Given the description of an element on the screen output the (x, y) to click on. 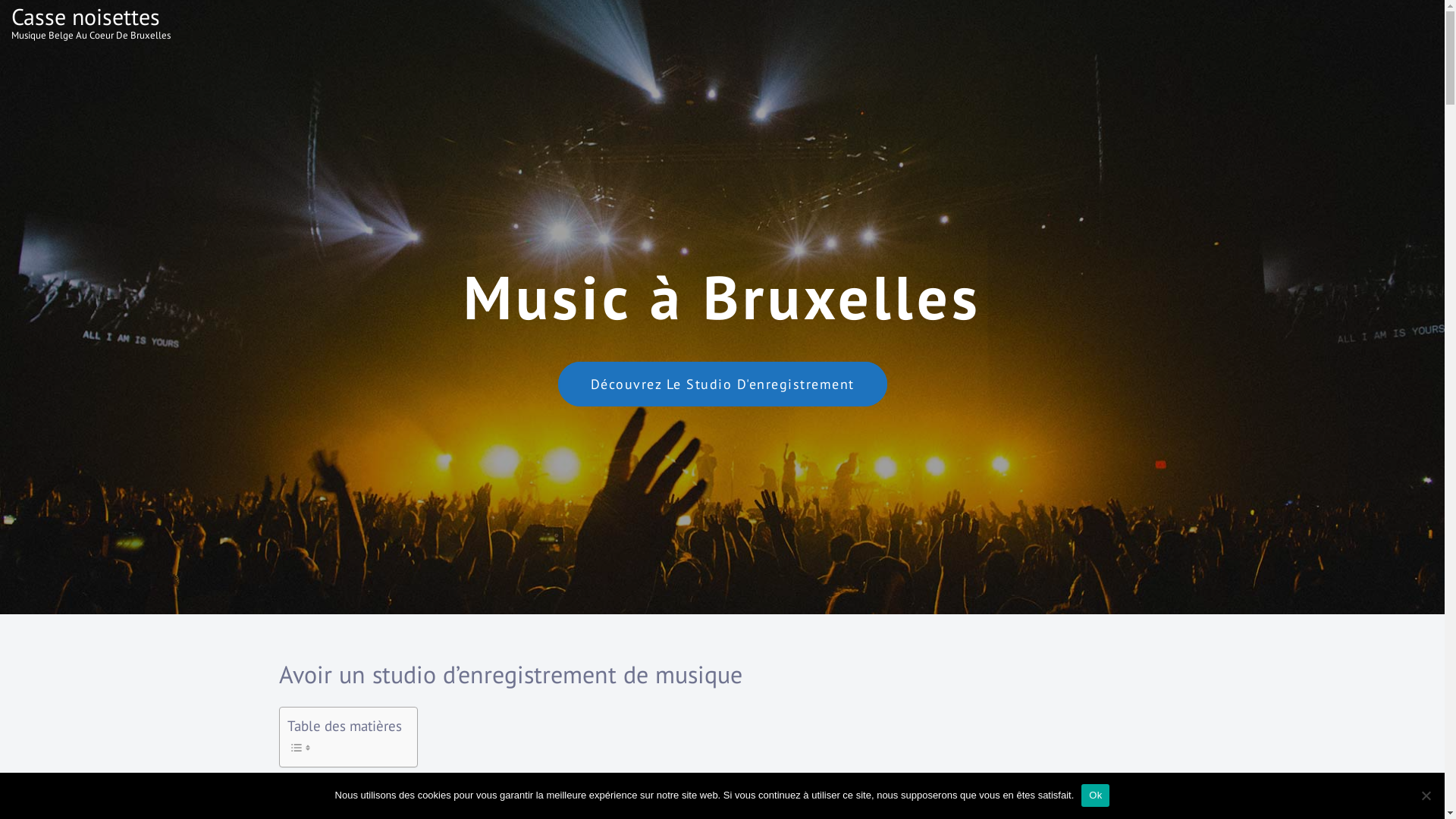
Ok Element type: text (1095, 795)
Casse noisettes Element type: text (85, 16)
Non Element type: hover (1425, 795)
